Given the description of an element on the screen output the (x, y) to click on. 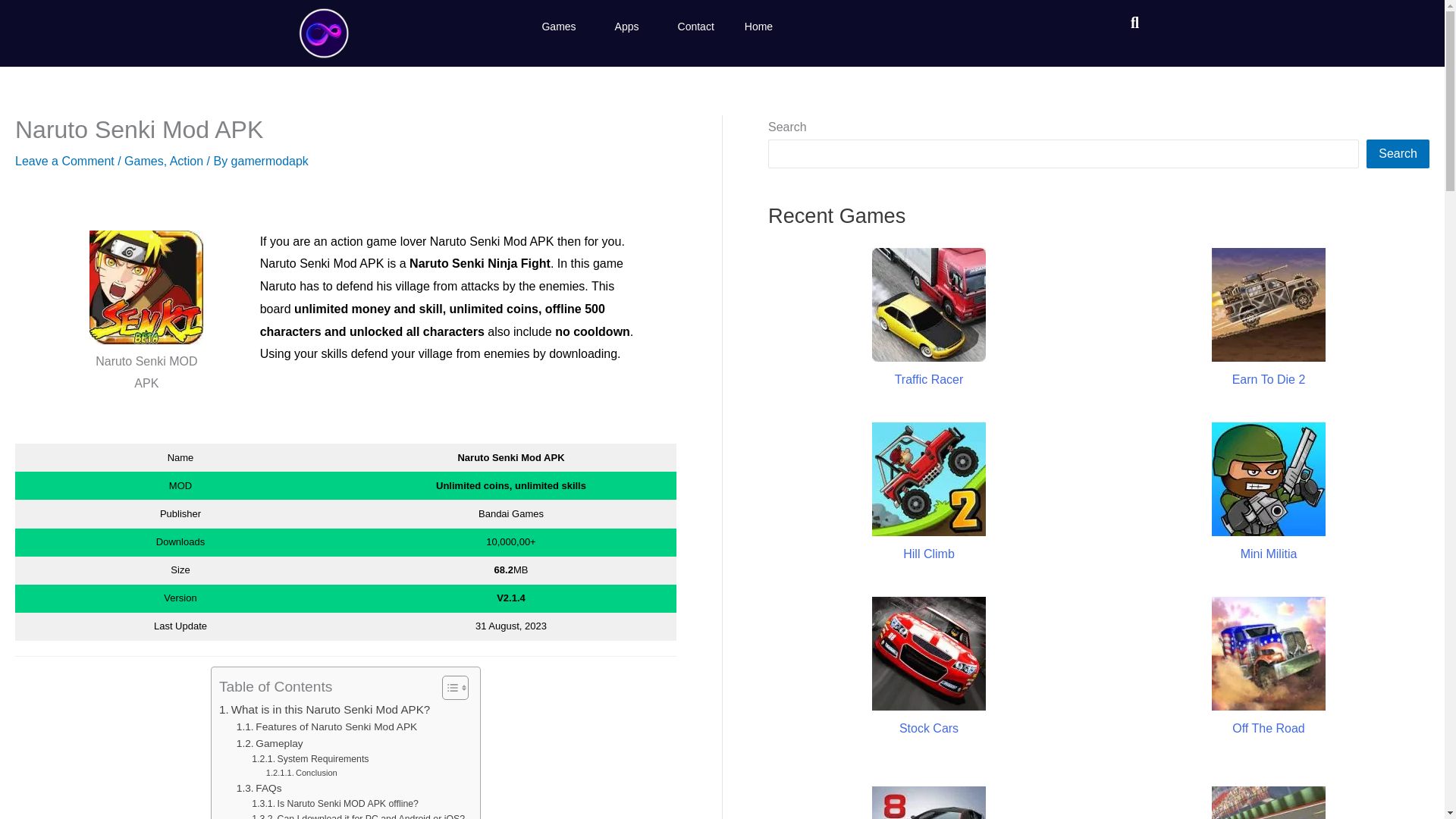
gamermodapk (269, 160)
Features of Naruto Senki Mod APK (325, 727)
Games (143, 160)
Action (186, 160)
Features of Naruto Senki Mod APK (325, 727)
Gameplay (268, 743)
System Requirements (309, 759)
FAQs (258, 788)
Is Naruto Senki MOD APK offline? (335, 804)
Is Naruto Senki MOD APK offline? (335, 804)
